Given the description of an element on the screen output the (x, y) to click on. 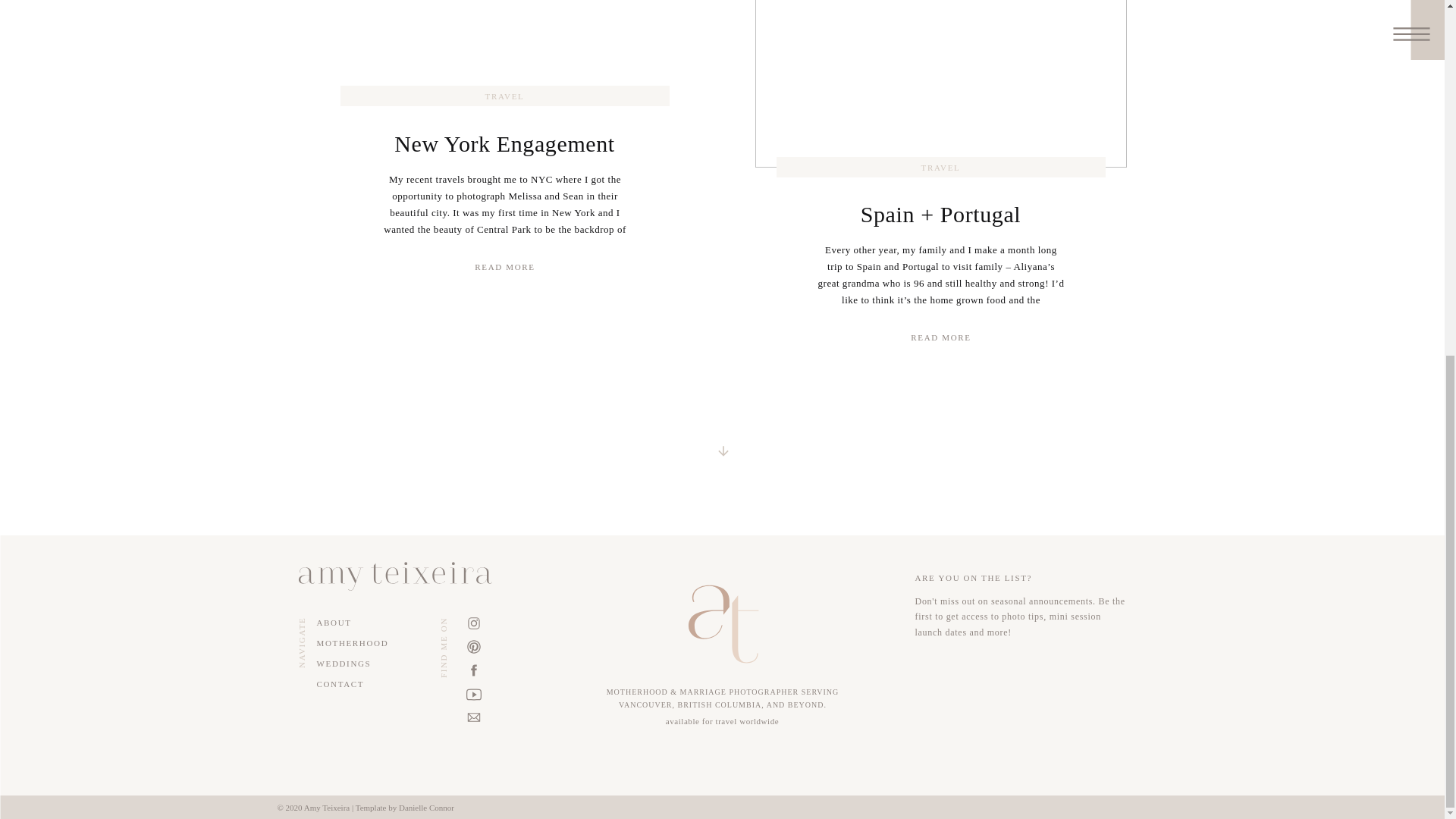
TRAVEL (940, 166)
New York Engagement (504, 143)
READ MORE (941, 337)
CONTACT (362, 684)
TRAVEL (504, 95)
Template by Danielle Connor (404, 807)
MOTHERHOOD (362, 643)
ABOUT (350, 622)
New York Engagement (504, 267)
READ MORE (504, 267)
